Given the description of an element on the screen output the (x, y) to click on. 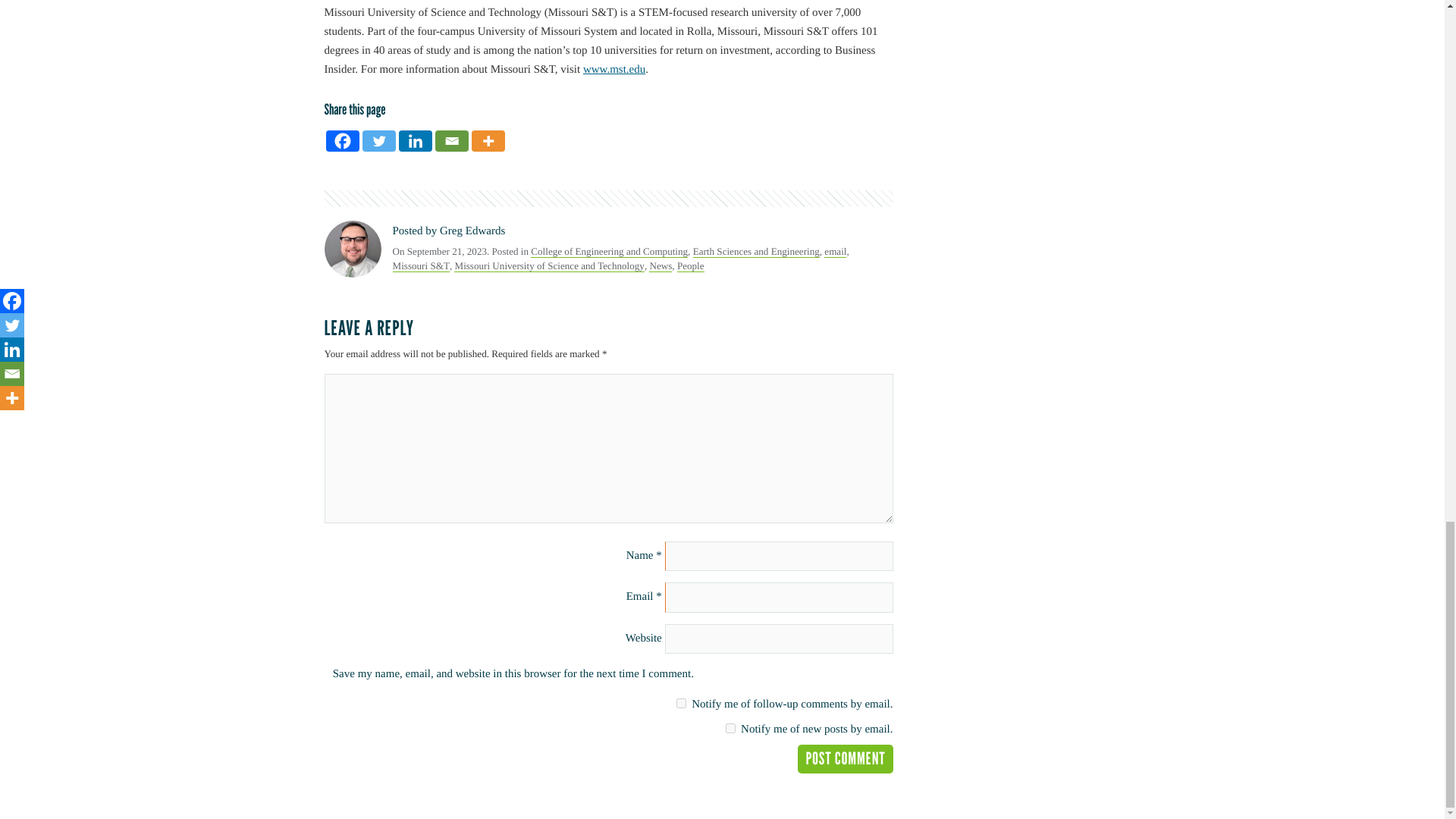
Facebook (342, 140)
Twitter (379, 140)
Post Comment (844, 758)
subscribe (730, 728)
subscribe (681, 703)
Linkedin (415, 140)
More (488, 140)
Email (451, 140)
Posts by Greg Edwards (472, 231)
